Given the description of an element on the screen output the (x, y) to click on. 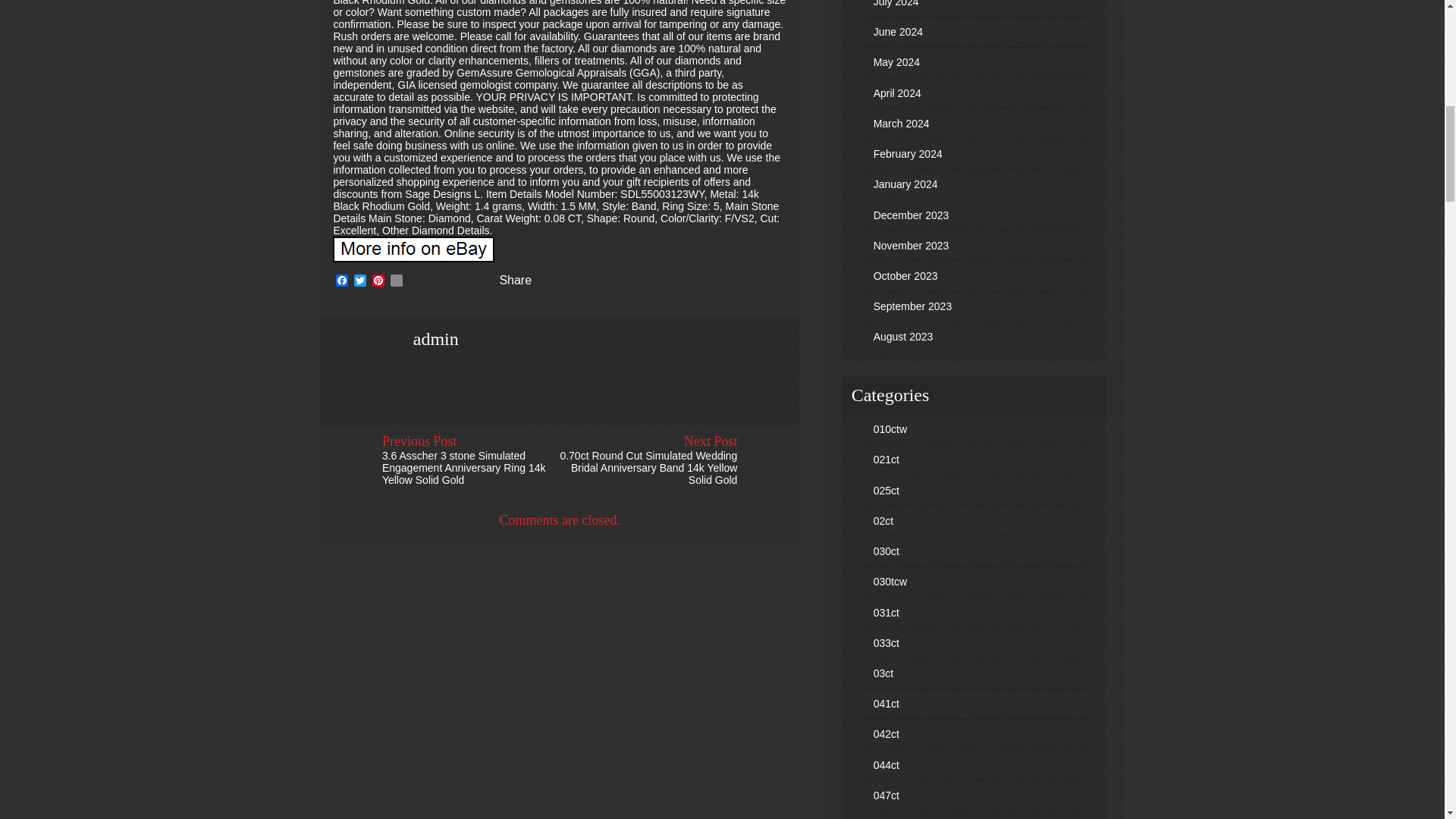
January 2024 (905, 184)
June 2024 (898, 31)
Email (396, 280)
Email (396, 280)
March 2024 (901, 123)
Facebook (341, 280)
May 2024 (896, 61)
Share (505, 280)
April 2024 (897, 92)
July 2024 (895, 3)
Twitter (359, 280)
Pinterest (378, 280)
Twitter (359, 280)
